Given the description of an element on the screen output the (x, y) to click on. 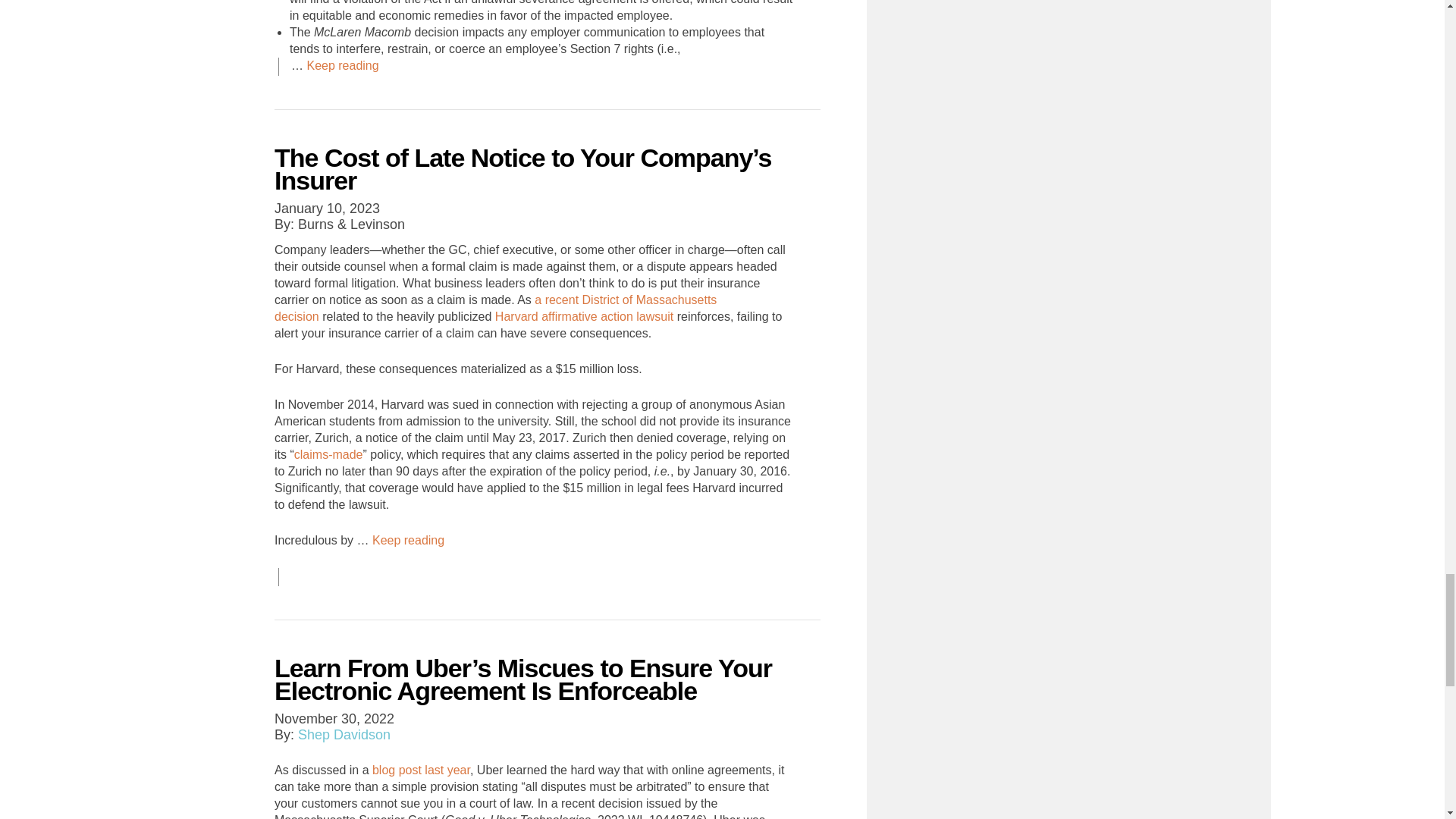
Shep Davidson (344, 734)
Tuesday, January 10, 2023, 5:29 pm (327, 208)
Wednesday, November 30, 2022, 1:53 pm (334, 718)
